Given the description of an element on the screen output the (x, y) to click on. 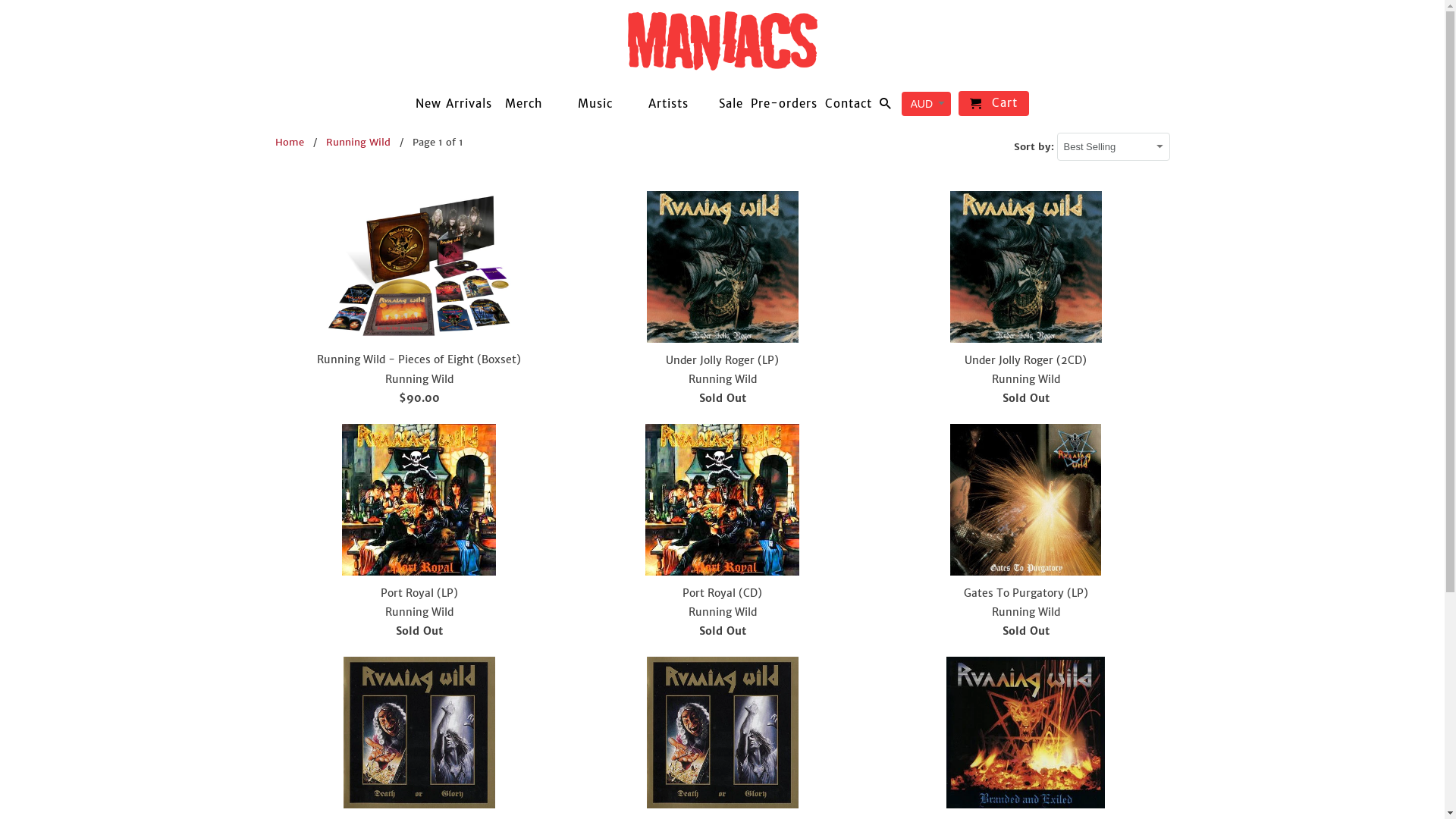
Maniacs Store Element type: hover (722, 62)
Pre-orders Element type: text (783, 106)
Running Wild - Pieces of Eight (Boxset)
Running Wild
$90.00 Element type: text (418, 302)
Under Jolly Roger (2CD)
Running Wild
Sold Out Element type: text (1025, 302)
Contact Element type: text (848, 106)
Cart Element type: text (993, 103)
Search Element type: hover (886, 106)
Port Royal (LP)
Running Wild
Sold Out Element type: text (418, 534)
Gates To Purgatory (LP)
Running Wild
Sold Out Element type: text (1025, 534)
Under Jolly Roger (LP)
Running Wild
Sold Out Element type: text (721, 302)
New Arrivals Element type: text (453, 106)
Port Royal (CD)
Running Wild
Sold Out Element type: text (721, 534)
Running Wild Element type: text (358, 141)
Sale Element type: text (730, 106)
Home Element type: text (288, 141)
